Given the description of an element on the screen output the (x, y) to click on. 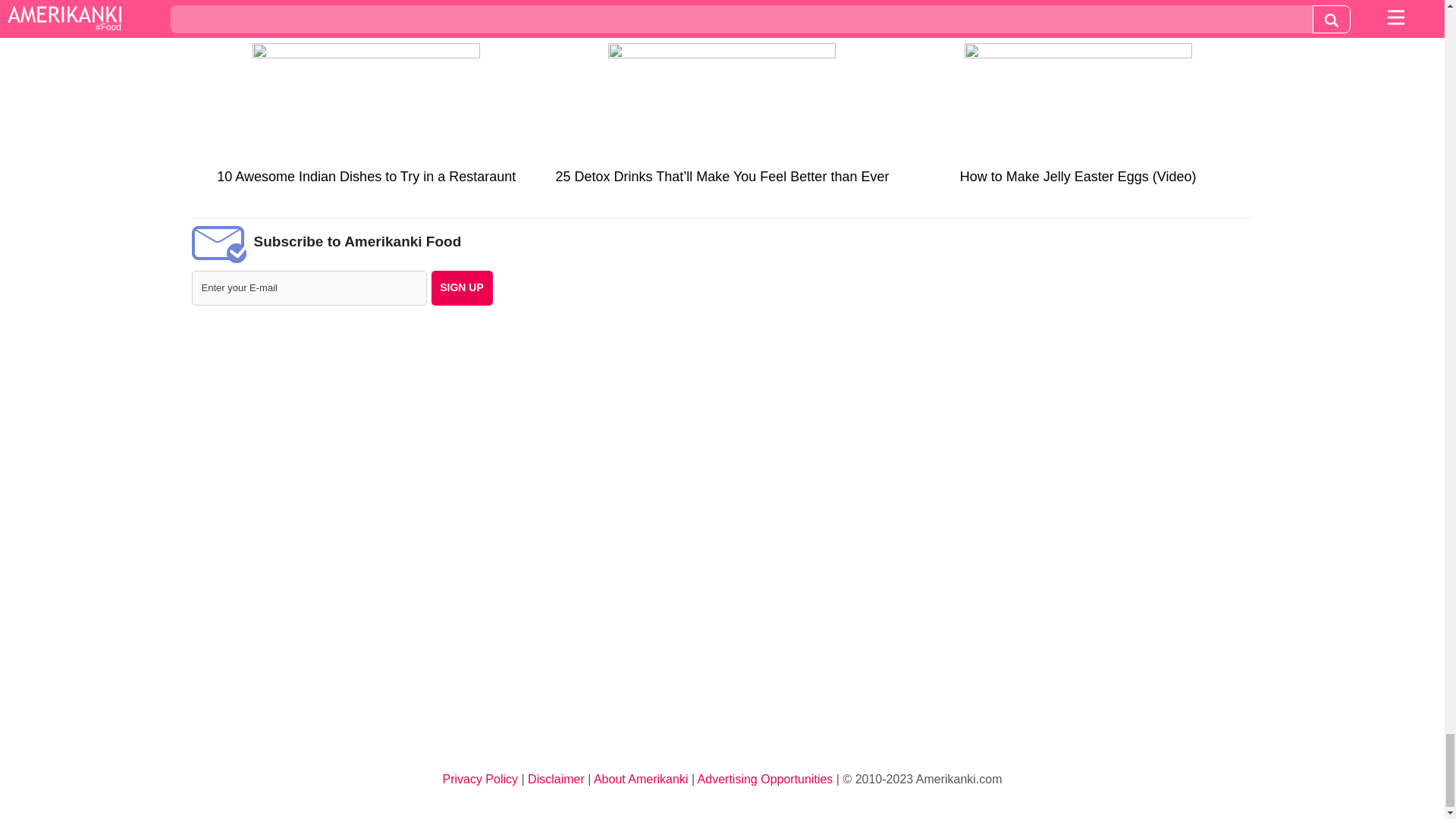
Enter your E-mail (308, 288)
